Given the description of an element on the screen output the (x, y) to click on. 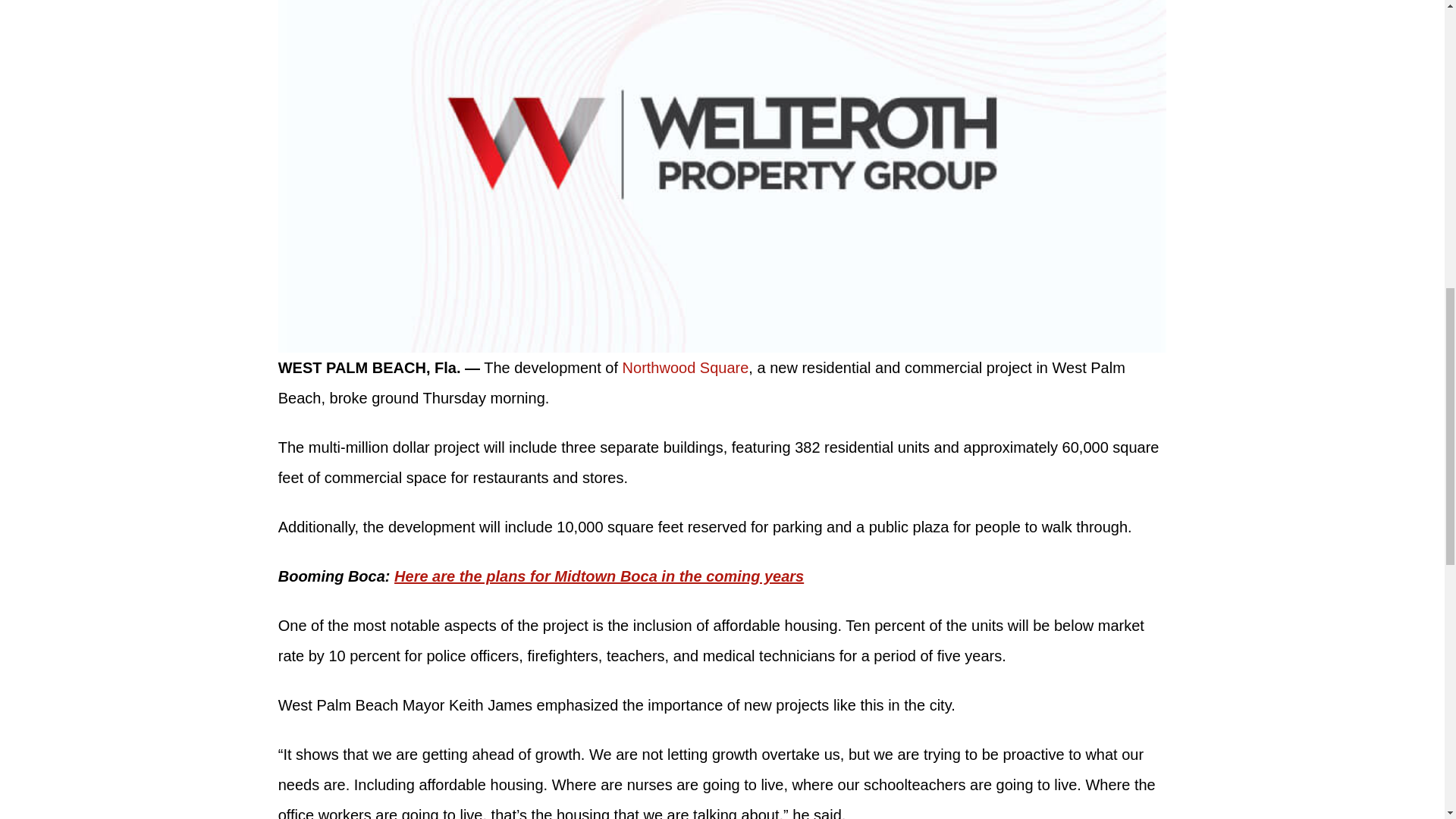
Northwood Square (686, 367)
Here are the plans for Midtown Boca in the coming years (598, 576)
